Given the description of an element on the screen output the (x, y) to click on. 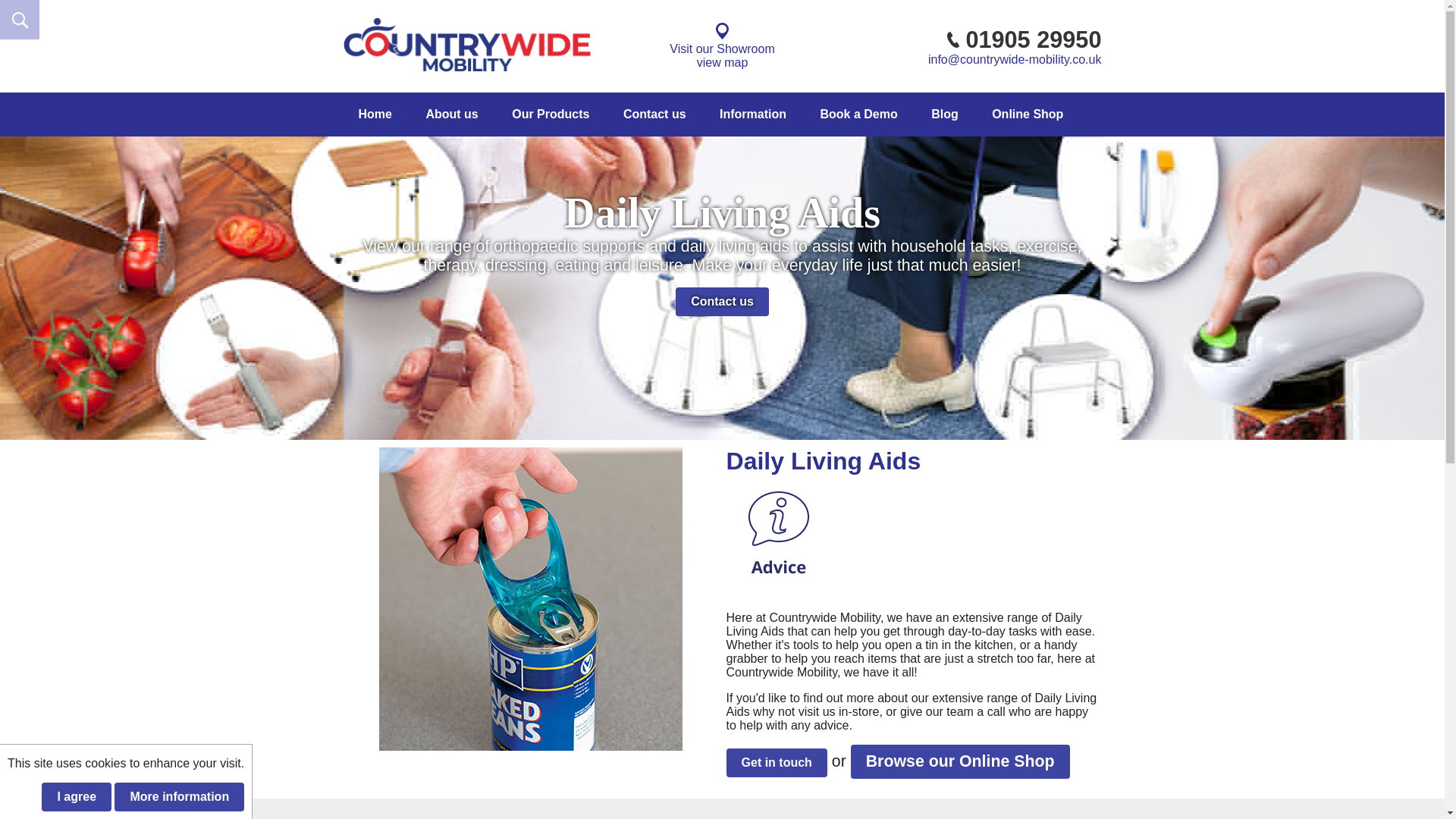
Our Products (550, 114)
Blog (944, 114)
Search Countrywide Mobility (19, 19)
Information (721, 45)
About us (753, 114)
More information (451, 114)
Browse our Online Shop (179, 796)
Contact us (960, 761)
Contact us (721, 301)
